Given the description of an element on the screen output the (x, y) to click on. 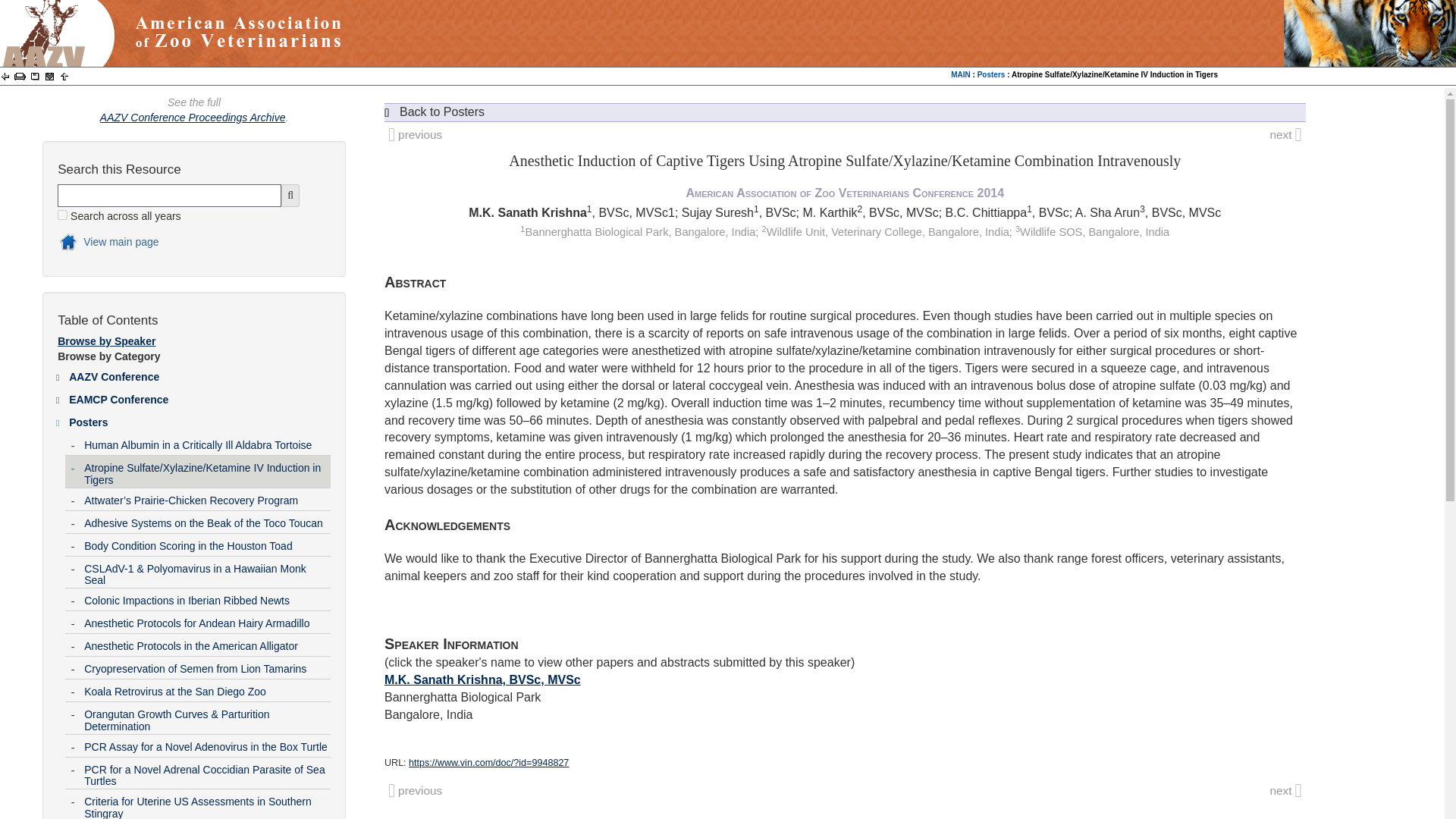
Browse by Speaker (106, 340)
Home (180, 244)
MAIN (960, 74)
Body Condition Scoring in the Houston Toad (206, 542)
on (62, 214)
Posters (991, 74)
Posters (198, 419)
AAZV Conference Proceedings Archive (192, 117)
Colonic Impactions in Iberian Ribbed Newts (206, 597)
Adhesive Systems on the Beak of the Toco Toucan (206, 520)
View main page (180, 244)
EAMCP Conference (198, 396)
Human Albumin in a Critically Ill Aldabra Tortoise (206, 442)
AAZV Conference (198, 373)
